Given the description of an element on the screen output the (x, y) to click on. 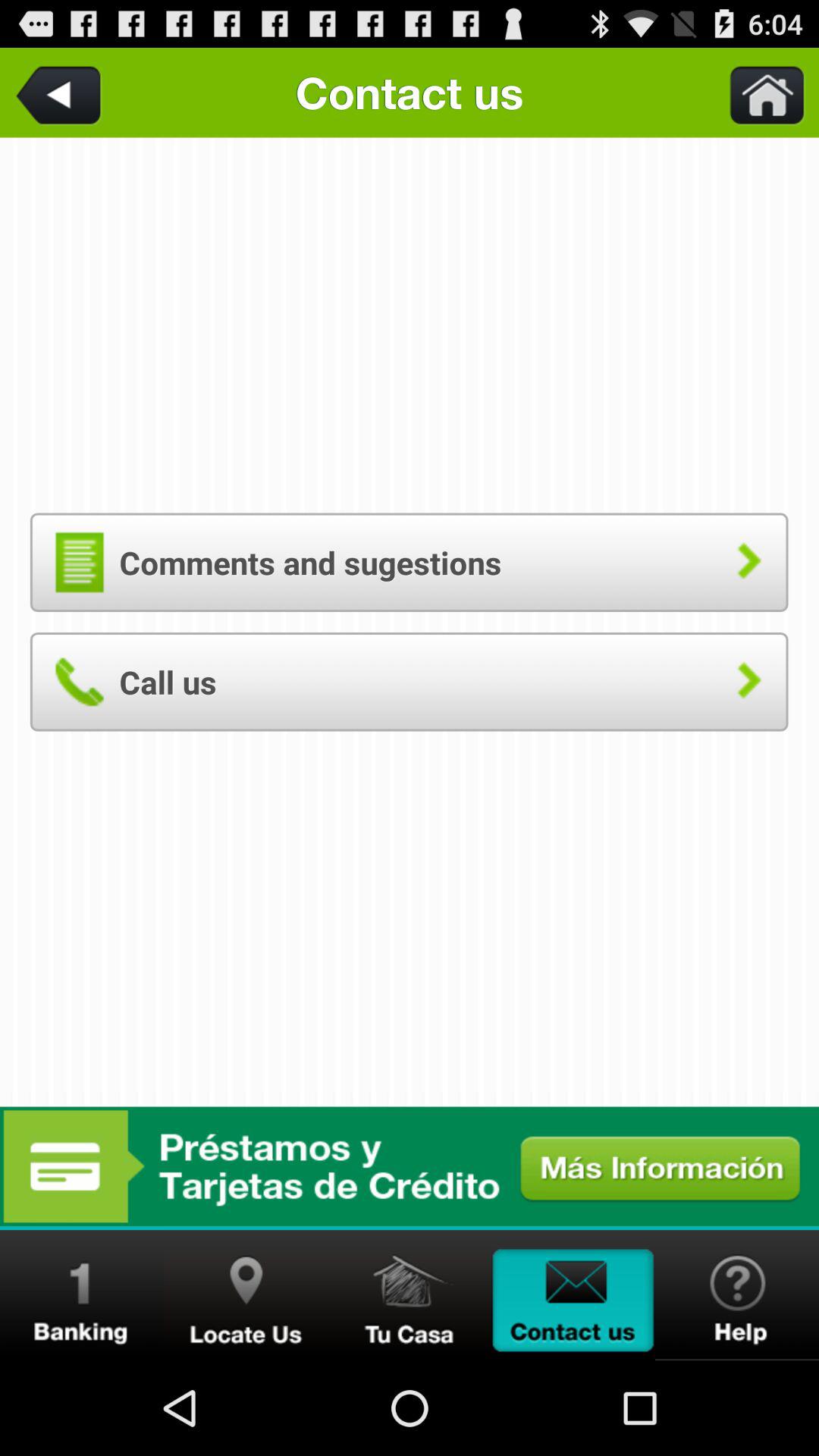
go home (757, 92)
